Given the description of an element on the screen output the (x, y) to click on. 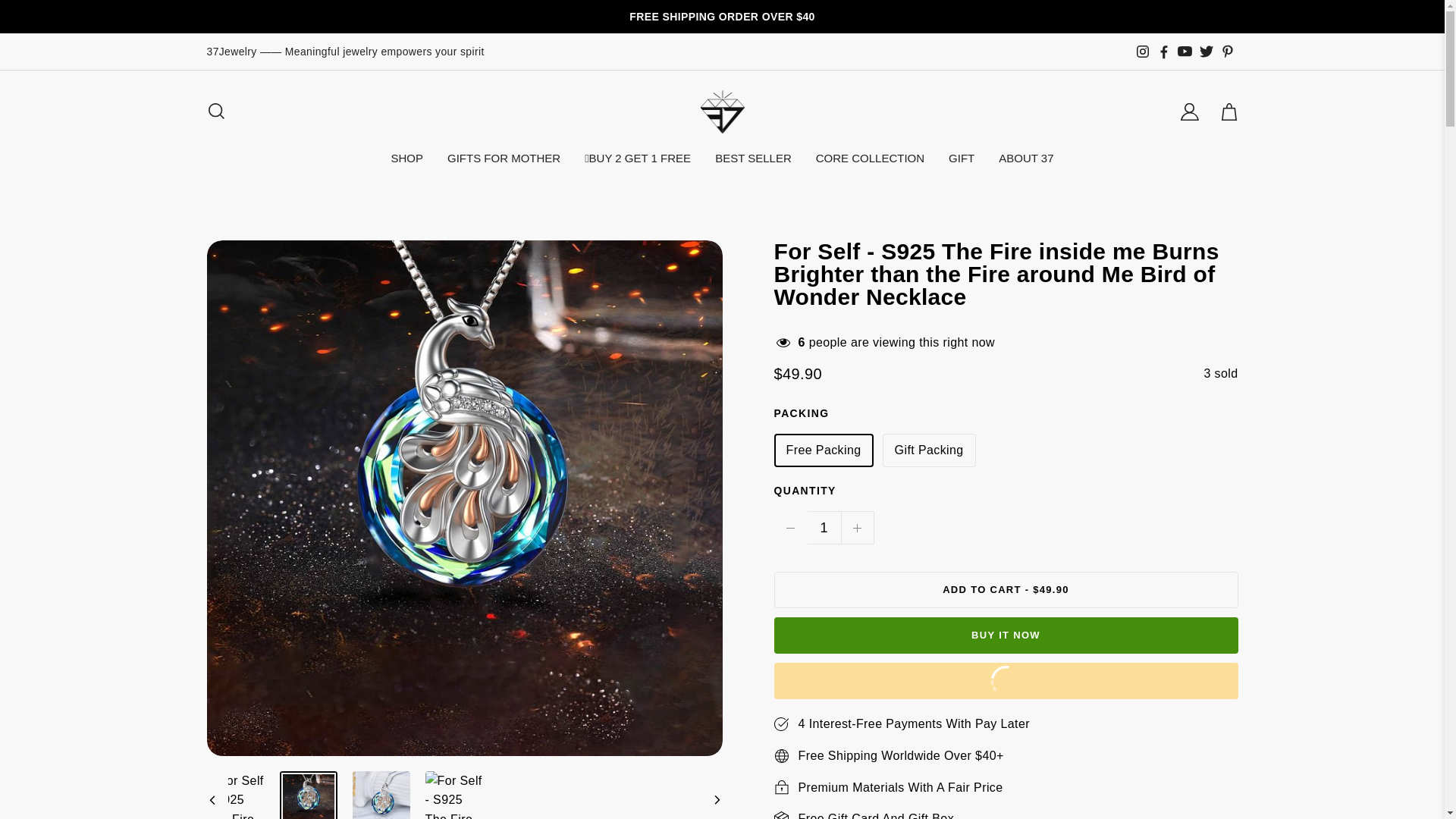
CORE COLLECTION Element type: text (869, 158)
GIFTS FOR MOTHER Element type: text (503, 158)
SHOP Element type: text (406, 158)
ABOUT 37 Element type: text (1025, 158)
ADD TO CART - $49.90 Element type: text (1005, 589)
BUY IT NOW Element type: text (1005, 635)
BEST SELLER Element type: text (753, 158)
GIFT Element type: text (961, 158)
